Given the description of an element on the screen output the (x, y) to click on. 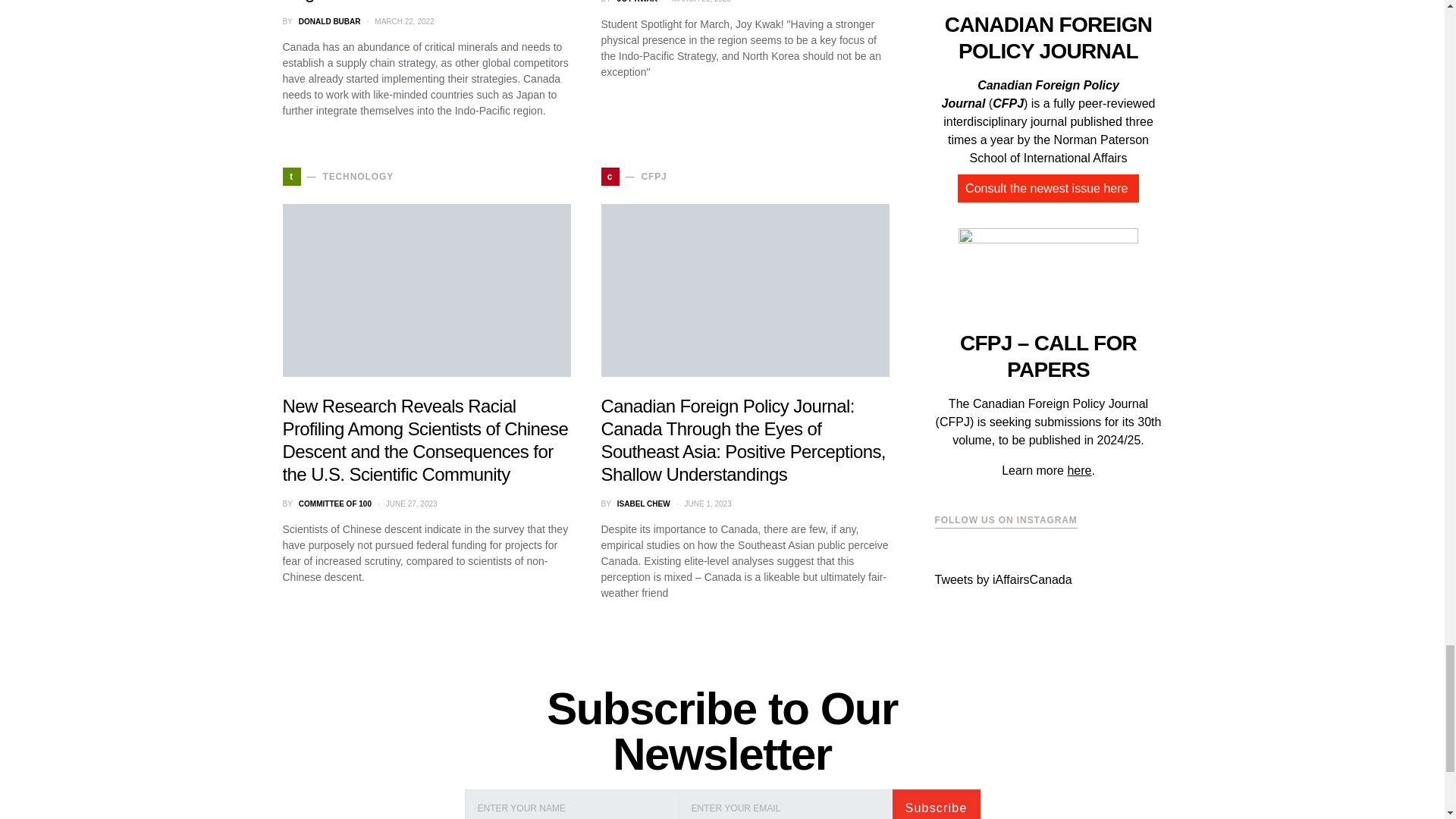
View all posts by Committee of 100 (334, 503)
View all posts by Donald Bubar (329, 21)
View all posts by Isabel Chew (643, 503)
View all posts by Joy Kwak (637, 2)
